Given the description of an element on the screen output the (x, y) to click on. 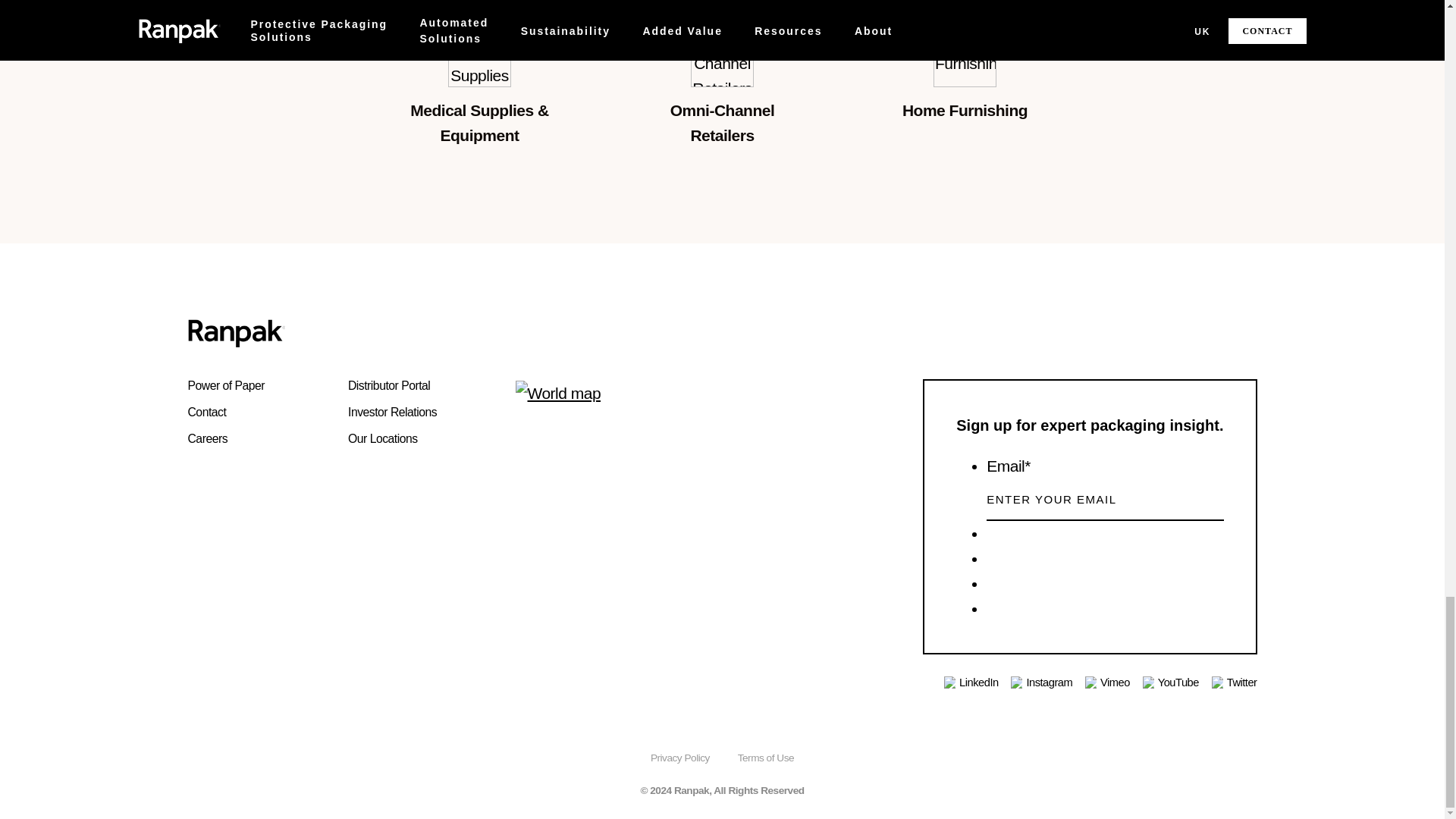
Home Furnishing (964, 55)
Omni-Channel Retailers (722, 55)
